Given the description of an element on the screen output the (x, y) to click on. 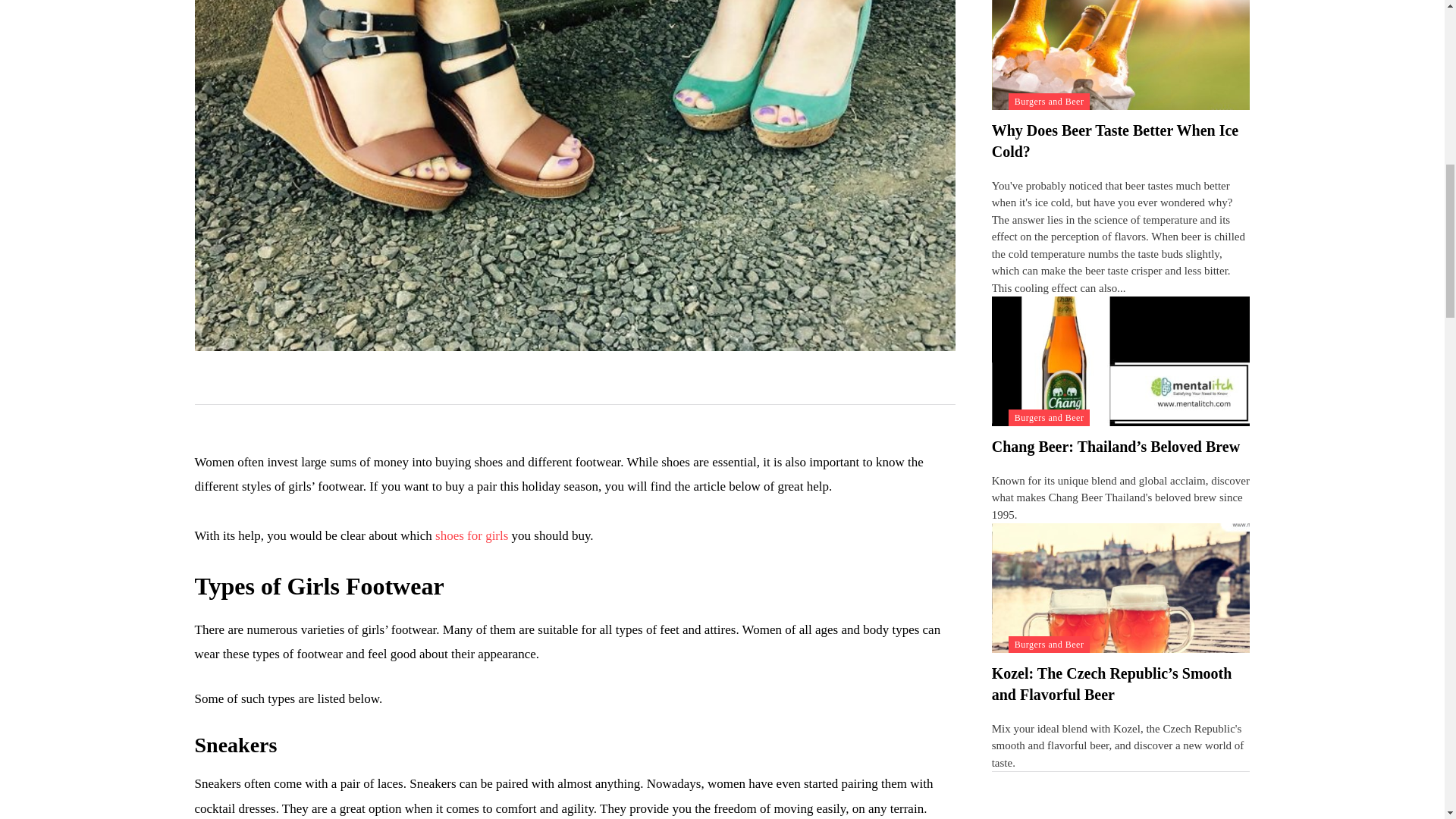
Why Does Beer Taste Better When Ice Cold? (1120, 54)
Why Does Beer Taste Better When Ice Cold? (1115, 140)
